Given the description of an element on the screen output the (x, y) to click on. 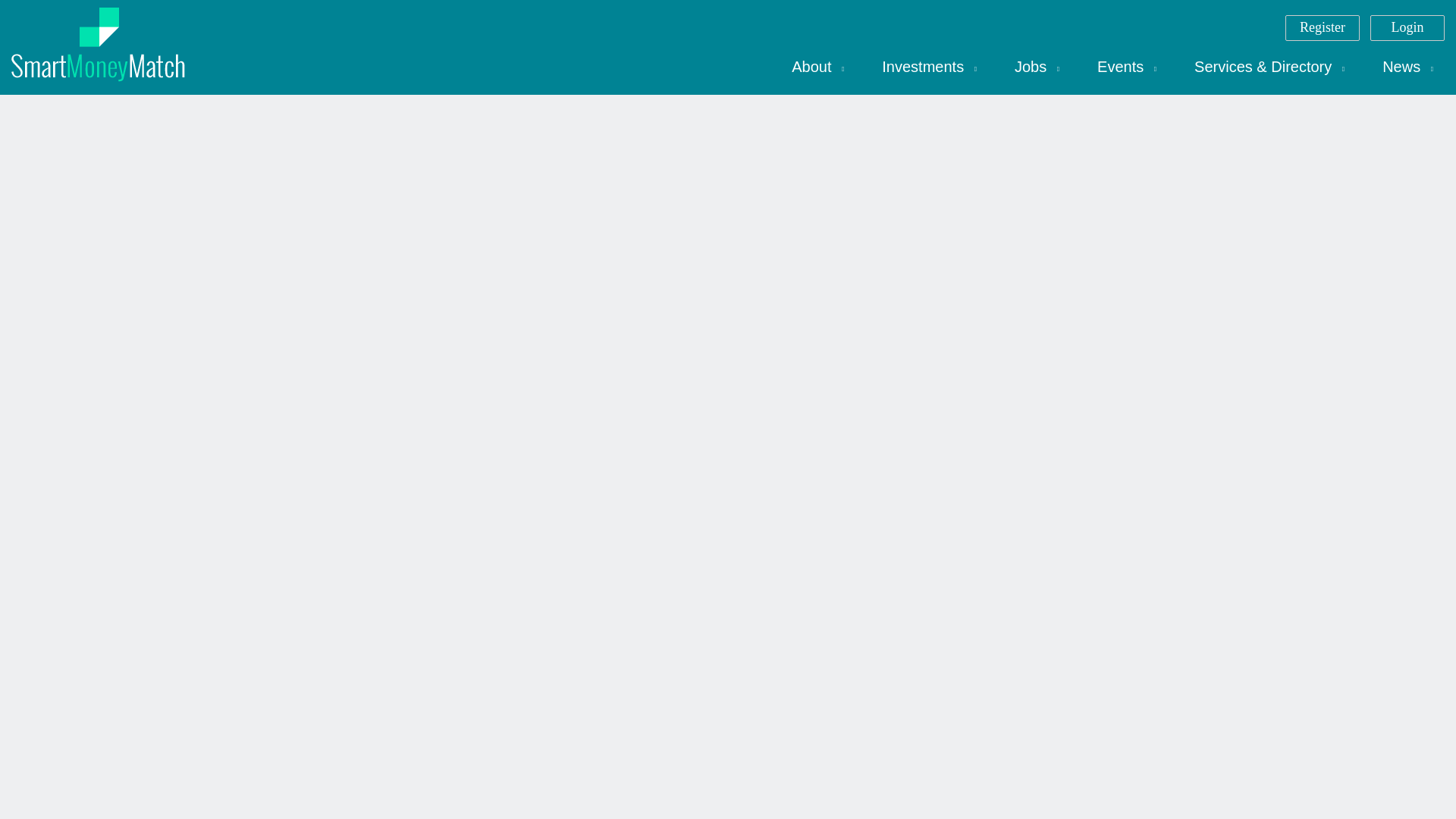
Login (1406, 27)
Register (1322, 27)
News (1407, 66)
Events (1126, 66)
About (818, 66)
Investments (929, 66)
Jobs (1036, 66)
